Given the description of an element on the screen output the (x, y) to click on. 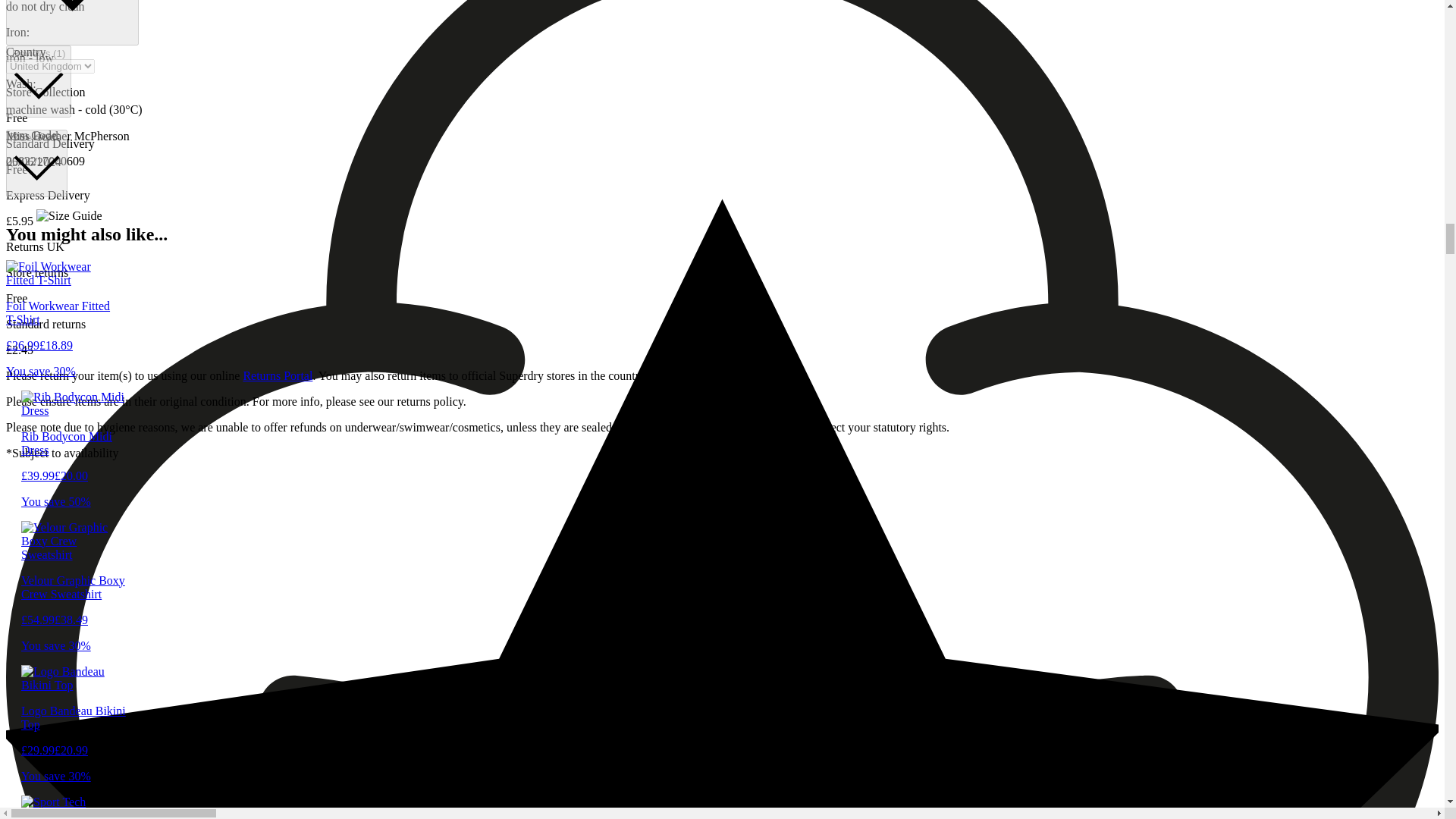
Logo Bandeau Bikini Top (74, 730)
Foil Workwear Fitted T-Shirt (58, 325)
Free UK Standard Delivery (71, 22)
Velour Graphic Boxy Crew Sweatshirt (74, 600)
Rib Bodycon Midi Dress (74, 455)
Size Guide (35, 163)
Returns Portal (278, 375)
